Given the description of an element on the screen output the (x, y) to click on. 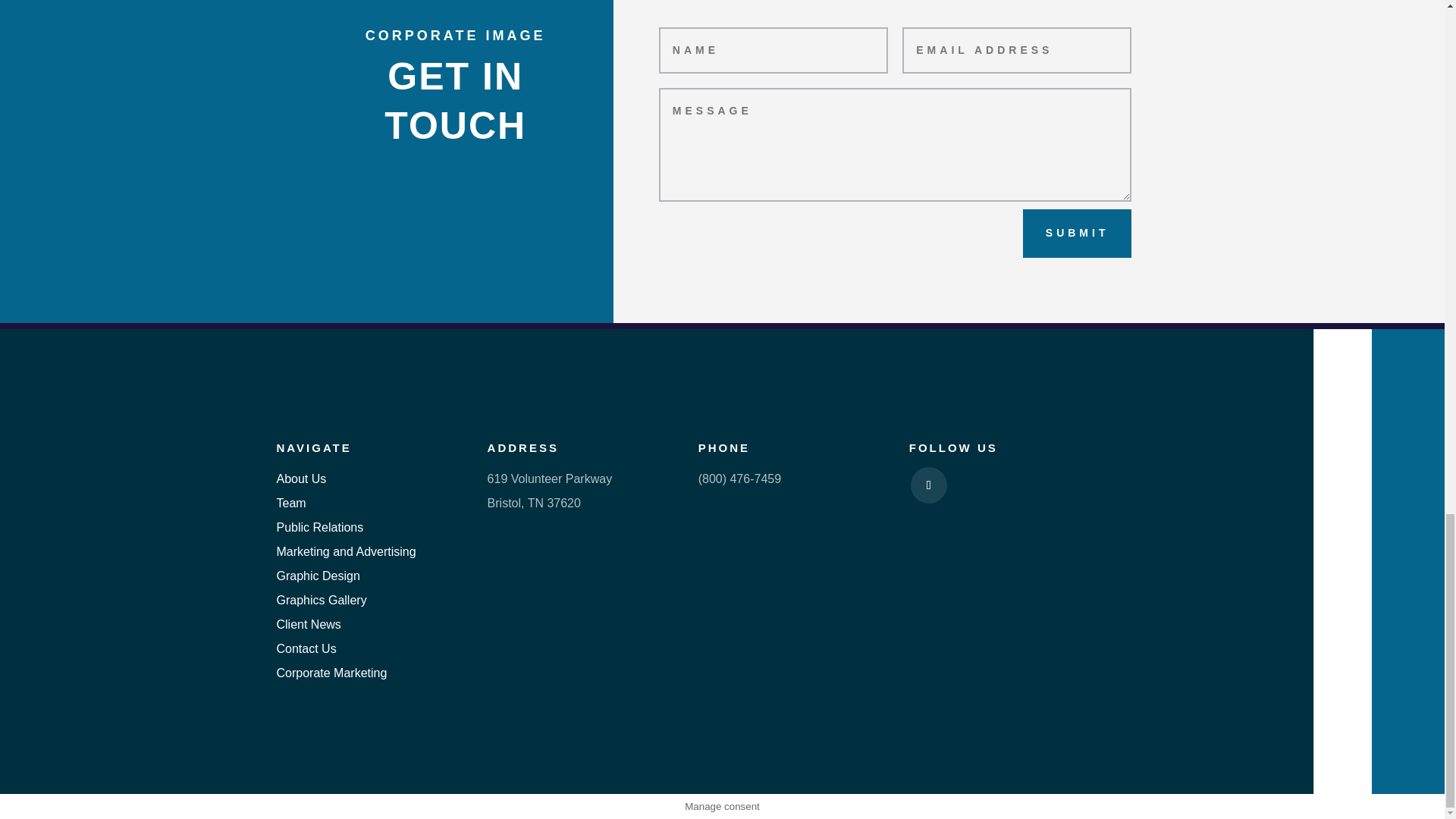
Graphic Design (317, 575)
Marketing and Advertising (345, 551)
Client News (308, 624)
Team (290, 502)
Follow on Facebook (929, 484)
SUBMIT (1077, 233)
About Us (301, 478)
Contact Us (306, 648)
Graphics Gallery (321, 599)
Public Relations (319, 526)
